Given the description of an element on the screen output the (x, y) to click on. 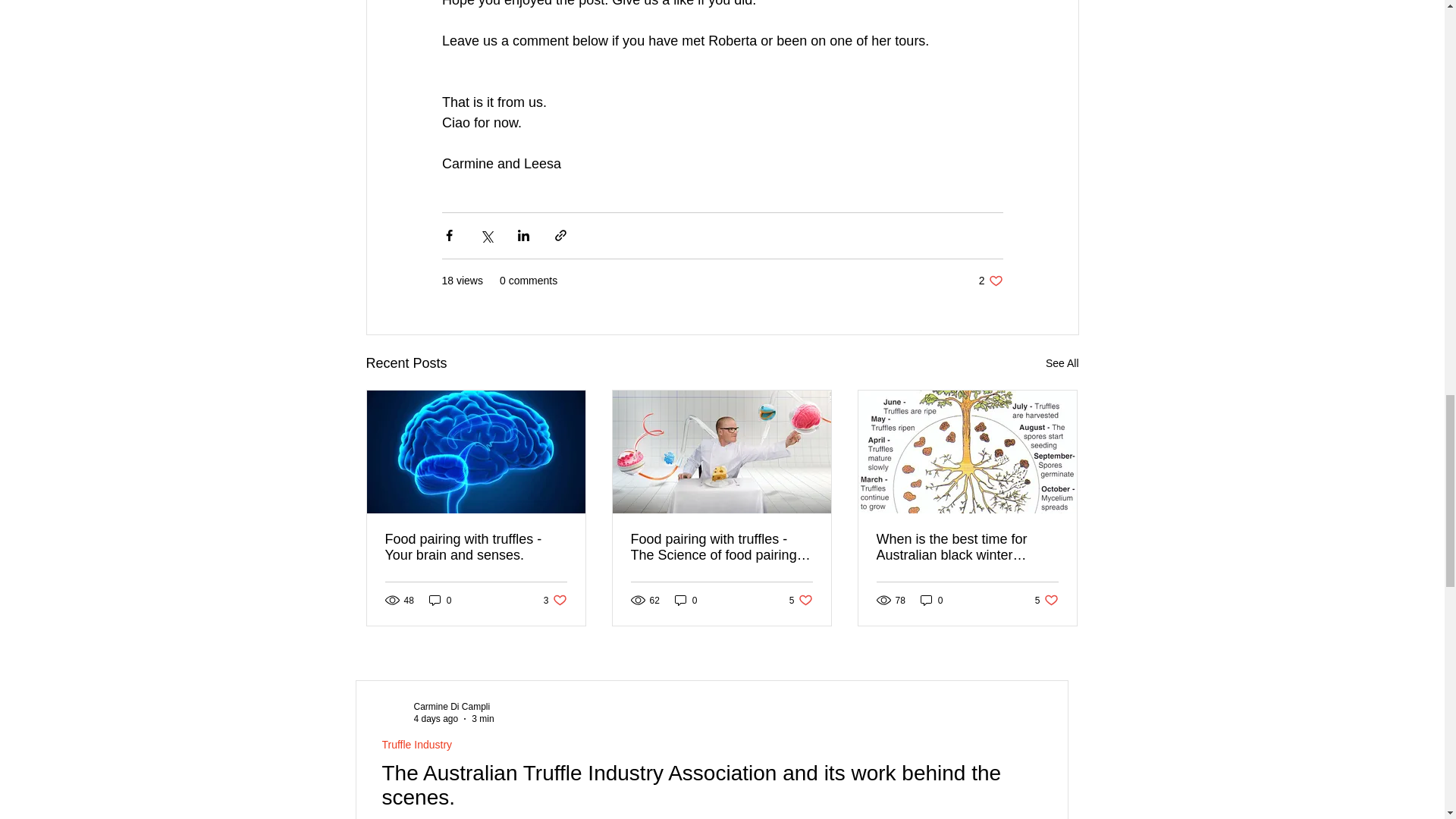
Carmine Di Campli (451, 706)
4 days ago (435, 718)
See All (990, 280)
3 min (1061, 363)
